Given the description of an element on the screen output the (x, y) to click on. 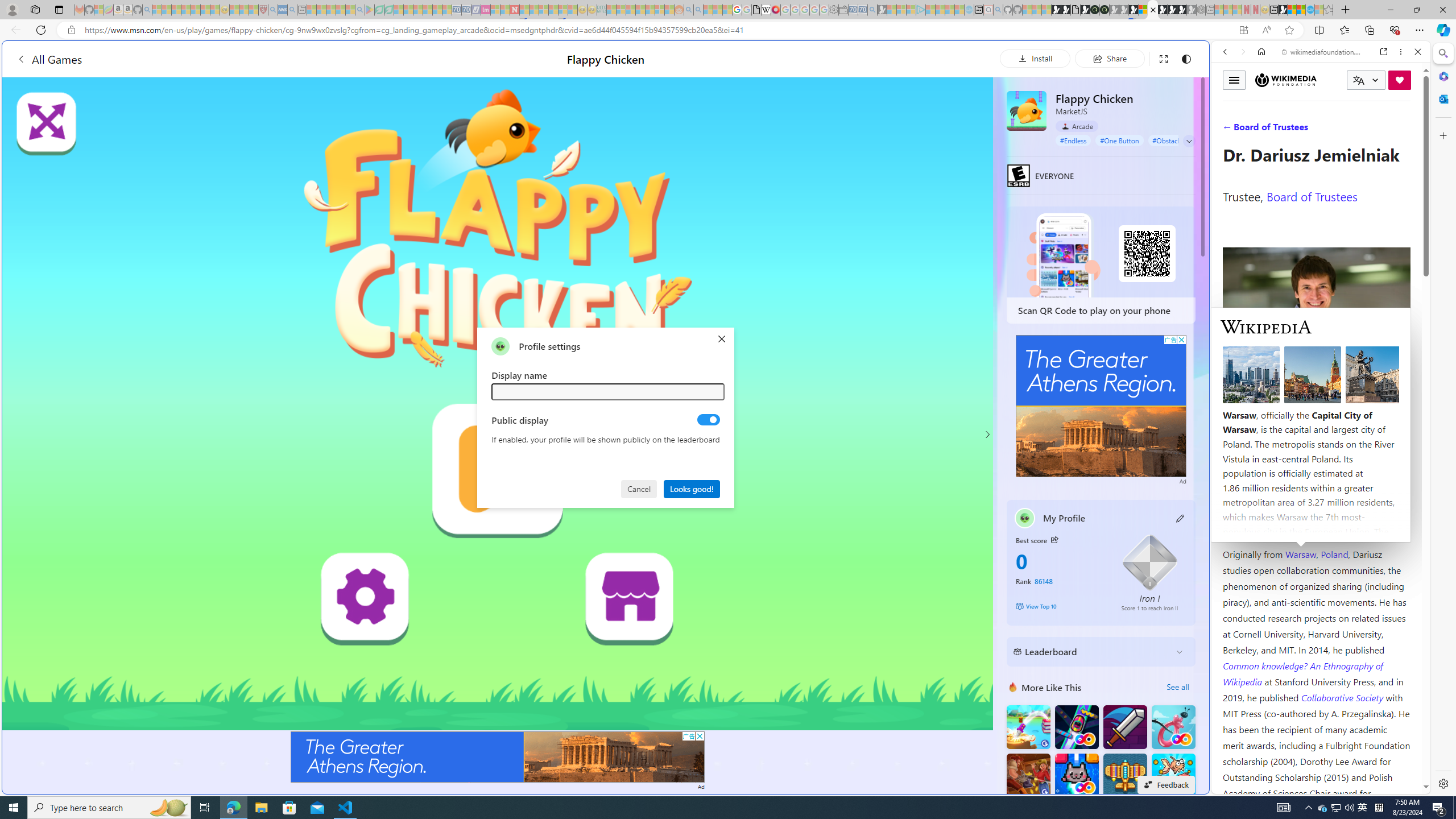
Class: expand-arrow neutral (1188, 141)
Board of Trustees (1311, 195)
Play Cave FRVR in your browser | Games from Microsoft Start (922, 242)
utah sues federal government - Search (922, 389)
google_privacy_policy_zh-CN.pdf (755, 9)
Sign in to your account (1143, 9)
App available. Install Flappy Chicken (1243, 29)
#Obstacle Course (1178, 140)
Jobs - lastminute.com Investor Portal - Sleeping (485, 9)
Kitten Force FRVR (1076, 775)
